Given the description of an element on the screen output the (x, y) to click on. 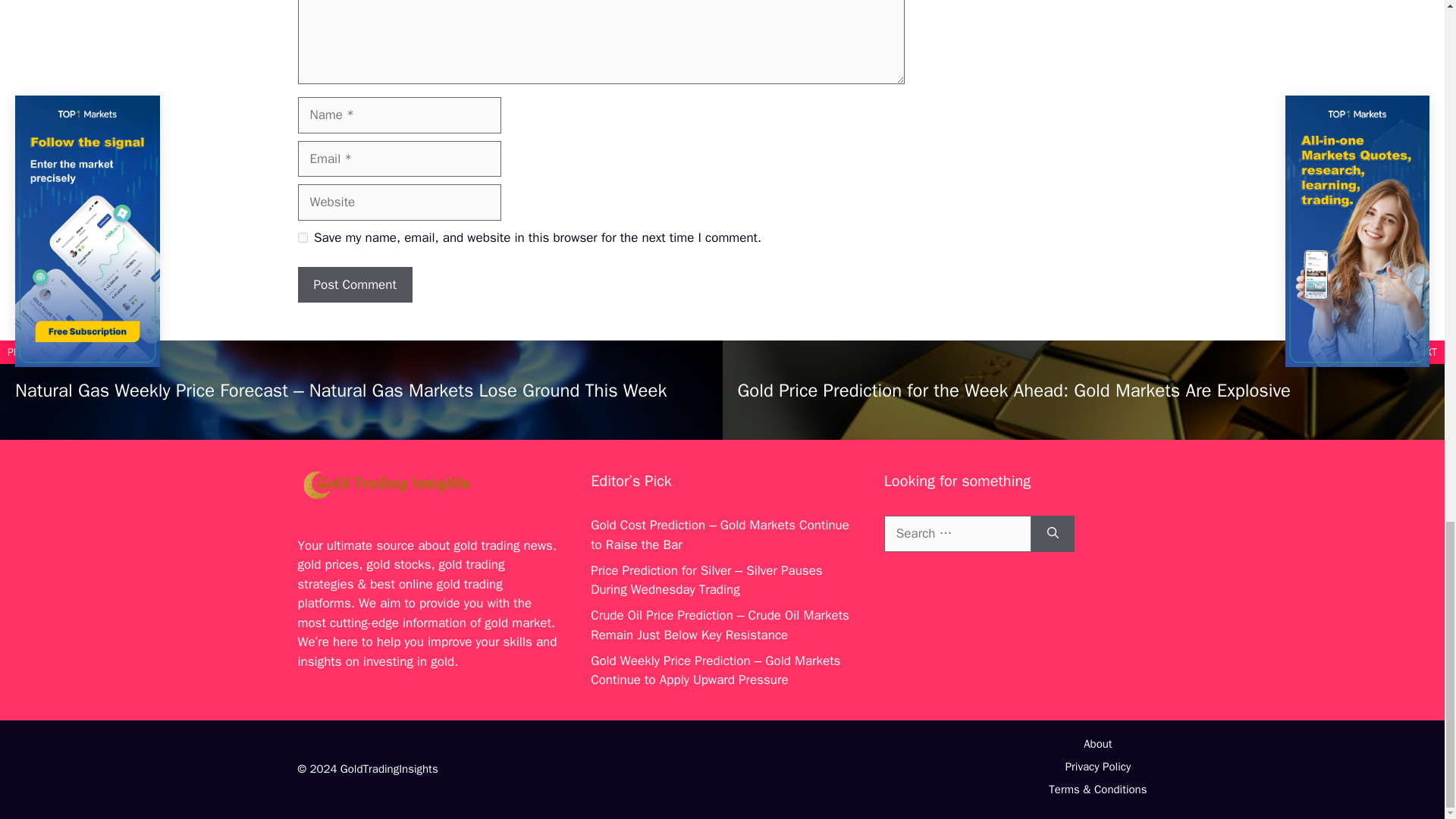
Privacy Policy (1098, 766)
Post Comment (354, 284)
yes (302, 237)
About (1097, 744)
Search for: (956, 533)
Post Comment (354, 284)
